Given the description of an element on the screen output the (x, y) to click on. 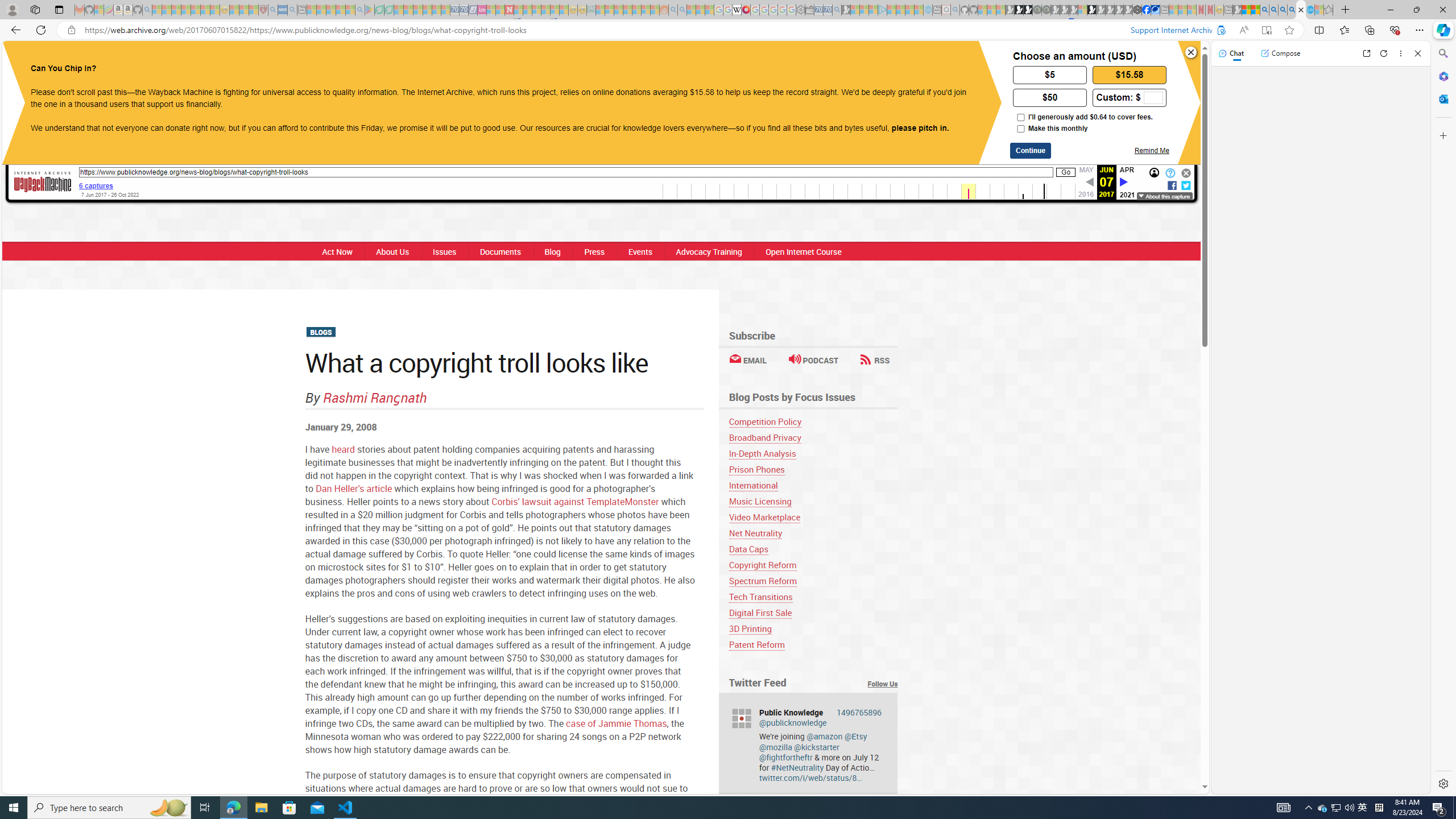
AutomationID: wm-sparkline-canvas (868, 191)
Copyright Reform (762, 564)
Future Focus Report 2024 - Sleeping (1045, 9)
Remind Me (1151, 150)
Google Chrome Internet Browser Download - Search Images (1291, 9)
Wayback Machine (42, 182)
About Us (392, 251)
Competition Policy (813, 421)
Continue (1030, 150)
Bing Real Estate - Home sales and rental listings - Sleeping (836, 9)
AutomationID: custom-amount-input (1152, 97)
AirNow.gov (1154, 9)
Tech Transitions (760, 596)
